Given the description of an element on the screen output the (x, y) to click on. 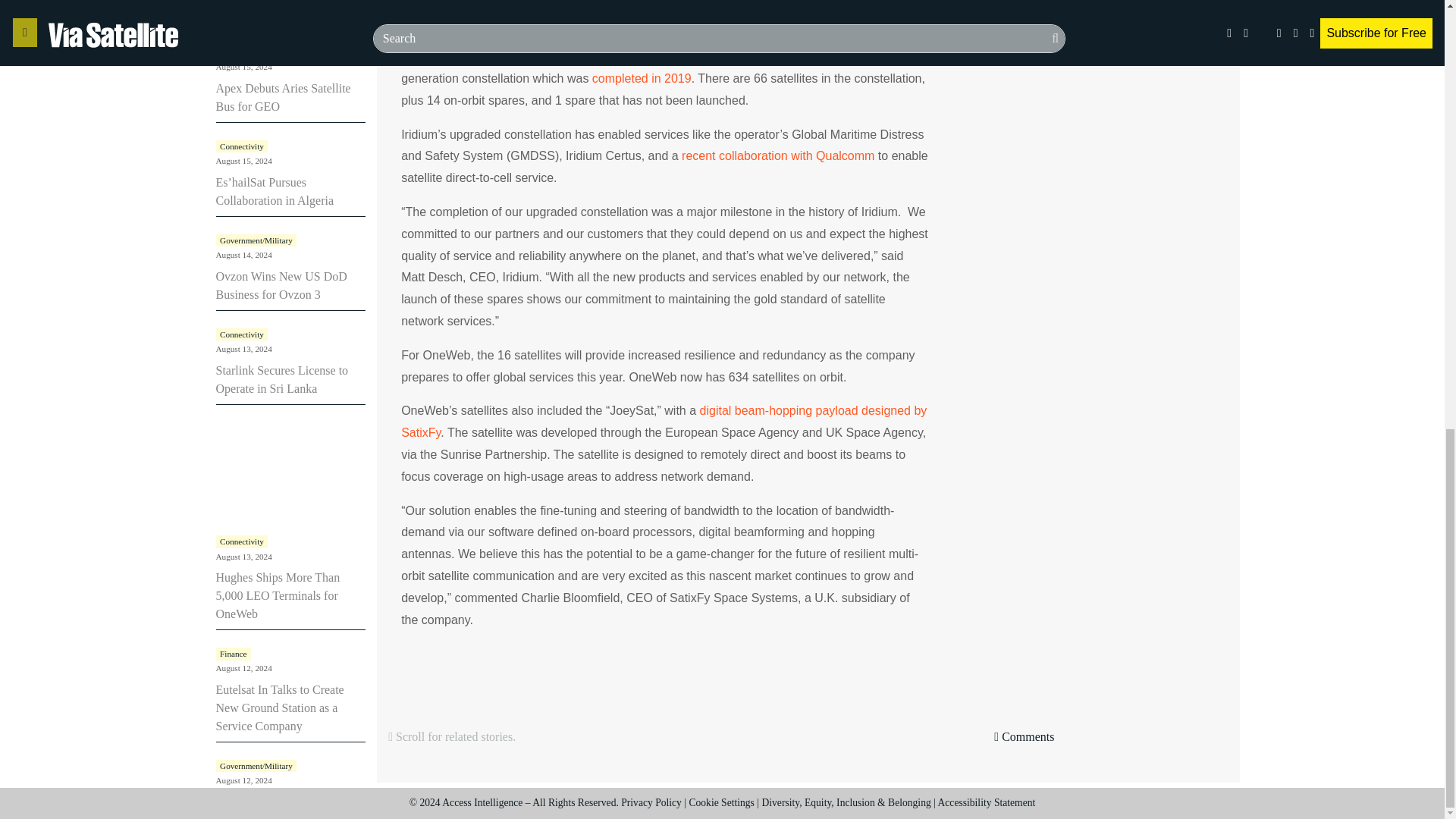
Connectivity (241, 541)
Scroll for related stories. (592, 737)
Manufacturing (245, 51)
Starlink Secures License to Operate in Sri Lanka (281, 378)
Apex Debuts Aries Satellite Bus for GEO  (282, 97)
Connectivity (241, 334)
Ovzon Wins New US DoD Business for Ovzon 3 (280, 285)
Finance (232, 653)
Hughes Ships More Than 5,000 LEO Terminals for OneWeb (277, 594)
